Given the description of an element on the screen output the (x, y) to click on. 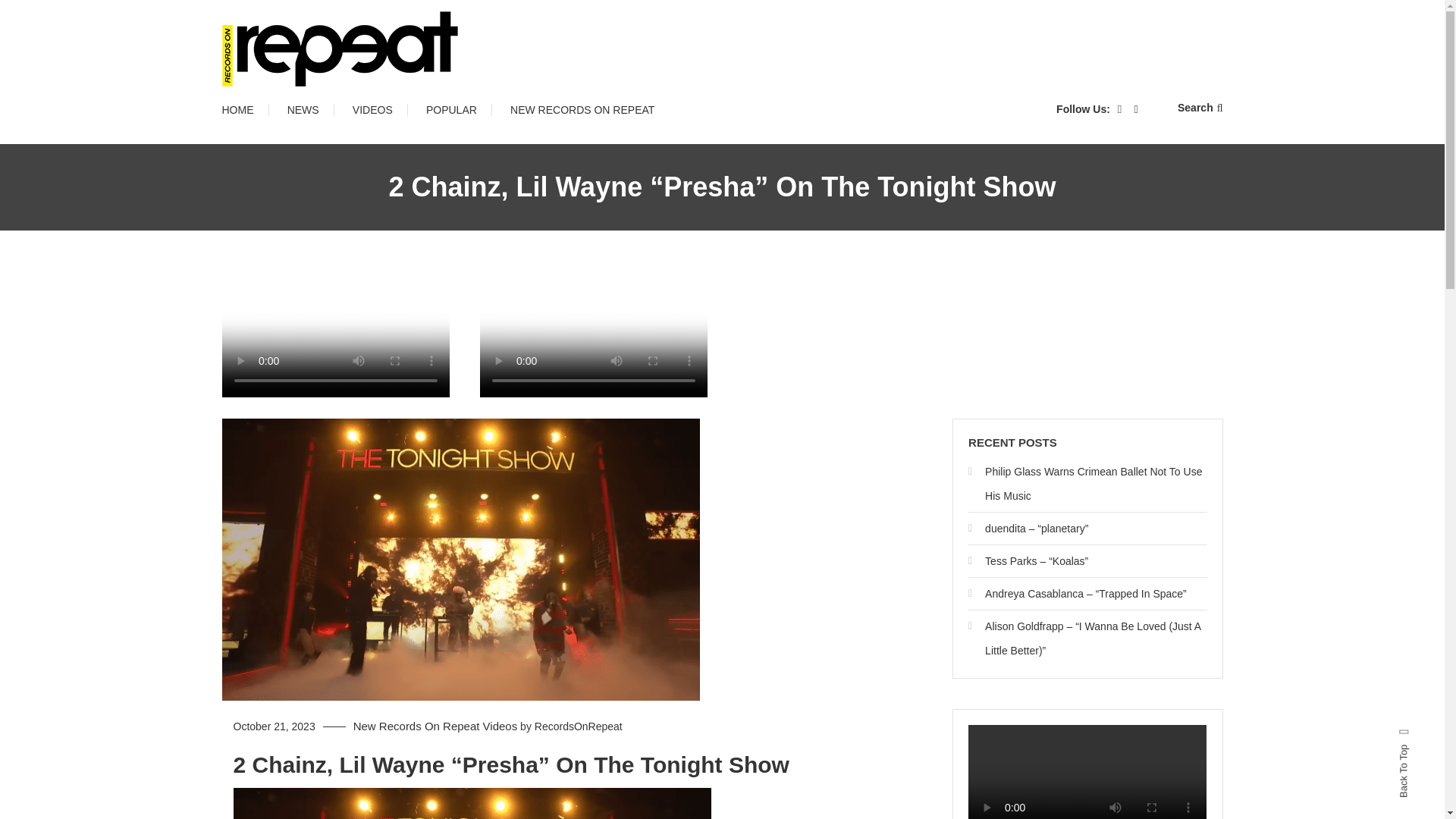
NEWS (303, 109)
Follow on Instagram (592, 392)
Search (768, 432)
Follow on Twitter (334, 392)
New Records On Repeat (416, 725)
HOME (244, 109)
Records of Repeat (342, 106)
POPULAR (451, 109)
Videos (500, 725)
October 21, 2023 (273, 726)
VIDEOS (372, 109)
NEW RECORDS ON REPEAT (582, 109)
RecordsOnRepeat (578, 726)
